Given the description of an element on the screen output the (x, y) to click on. 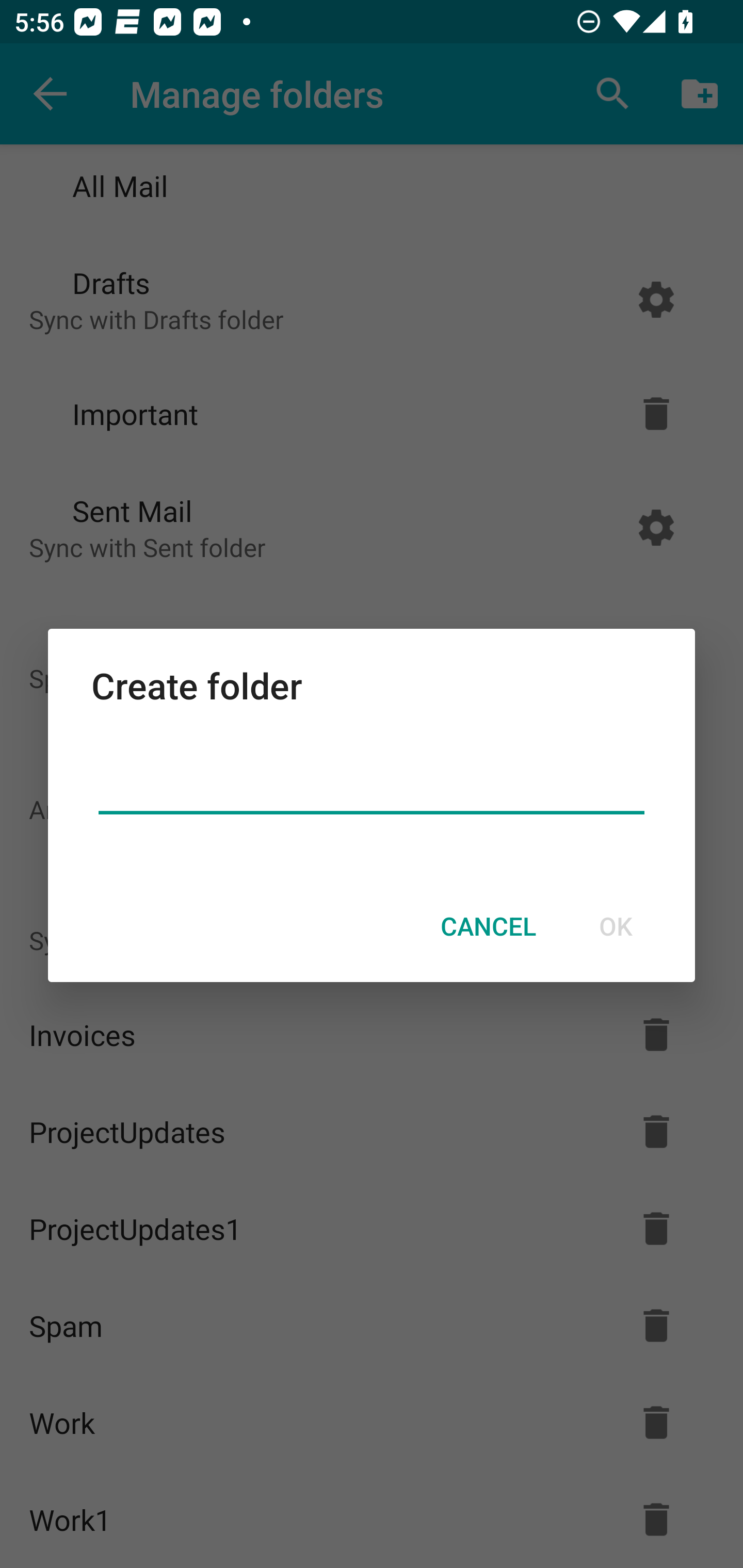
CANCEL (488, 926)
OK (615, 926)
